Given the description of an element on the screen output the (x, y) to click on. 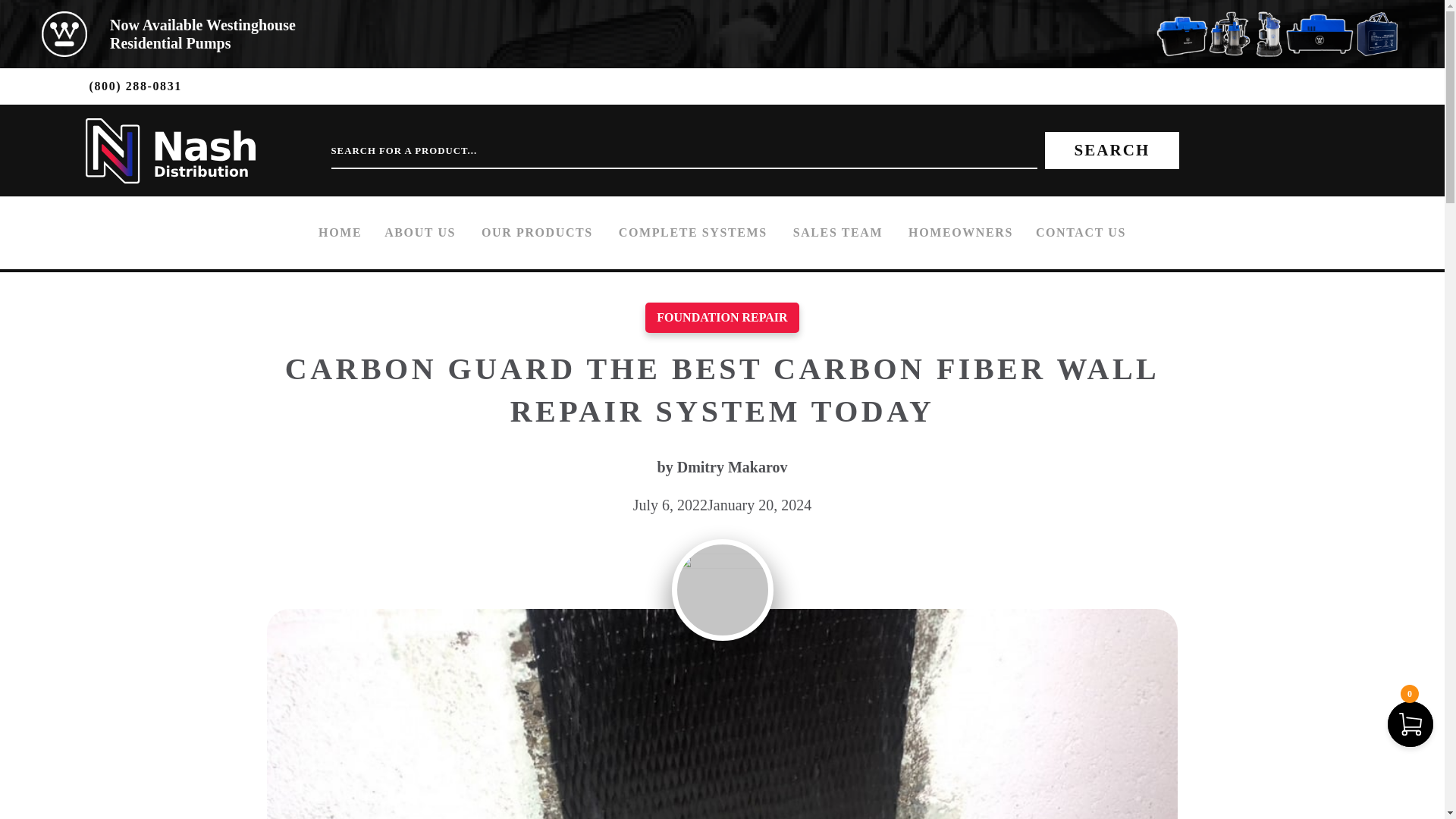
SEARCH (1111, 149)
Search for: (202, 33)
